Given the description of an element on the screen output the (x, y) to click on. 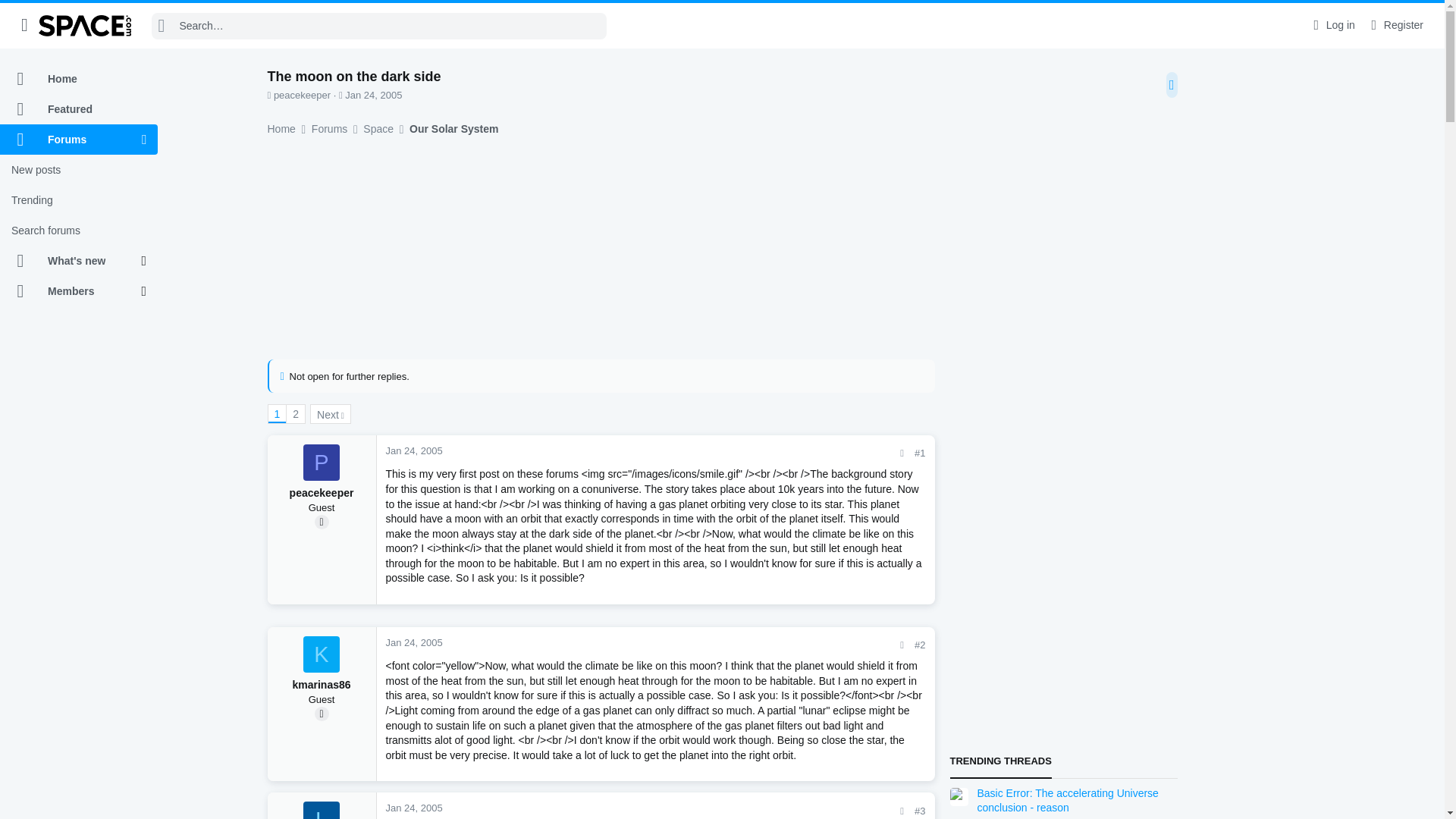
Search forums (78, 230)
Forums (70, 139)
Log in (1332, 24)
What's new (70, 260)
Home (78, 78)
Jan 24, 2005 at 3:31 PM (373, 94)
Trending (78, 200)
Featured (78, 109)
peacekeeper (320, 462)
New posts (78, 169)
